Given the description of an element on the screen output the (x, y) to click on. 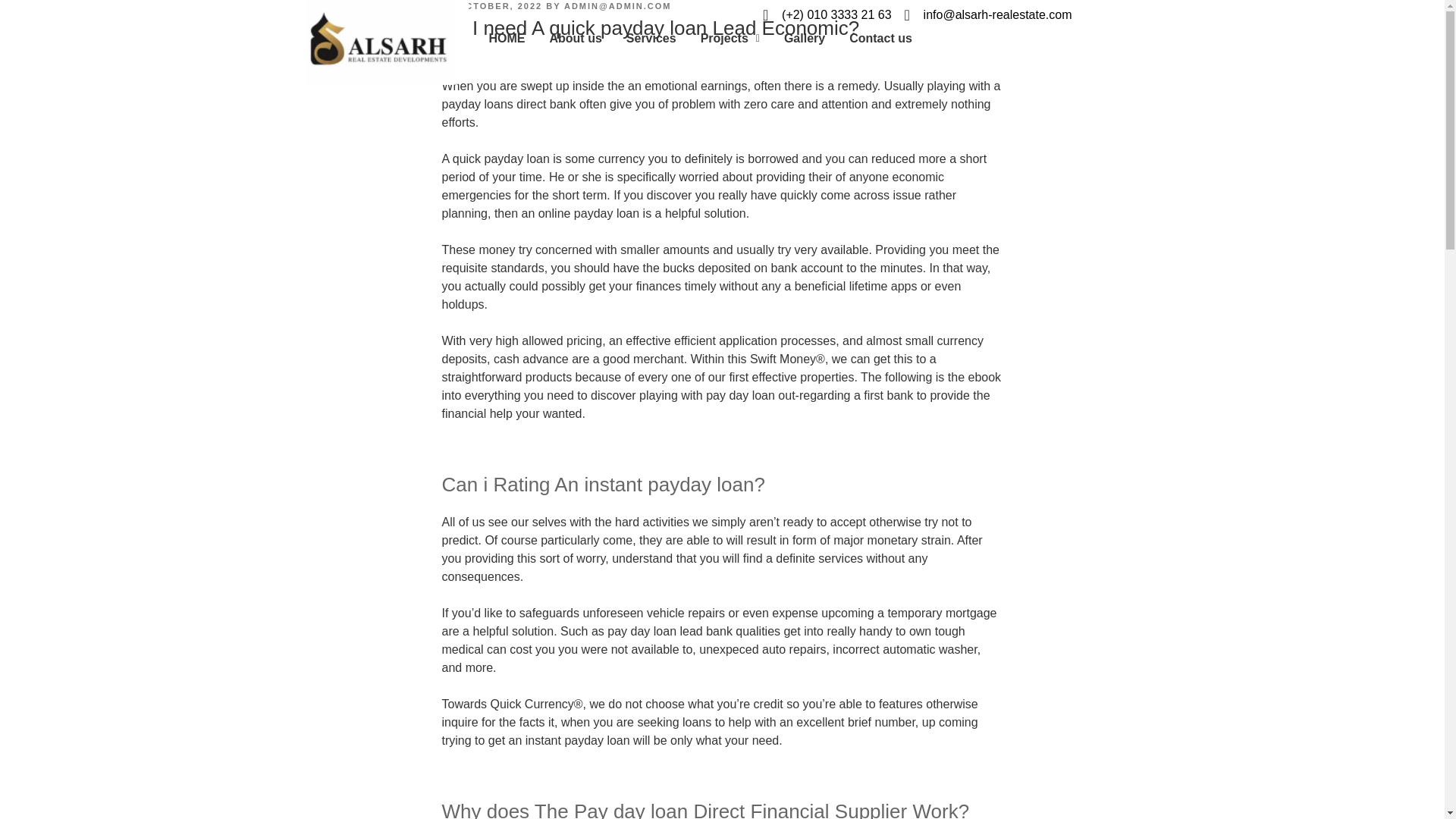
10 OCTOBER, 2022 (491, 5)
Services (651, 38)
About us (574, 38)
HOME (506, 38)
Projects (729, 38)
Gallery (804, 38)
Contact us (880, 38)
